Given the description of an element on the screen output the (x, y) to click on. 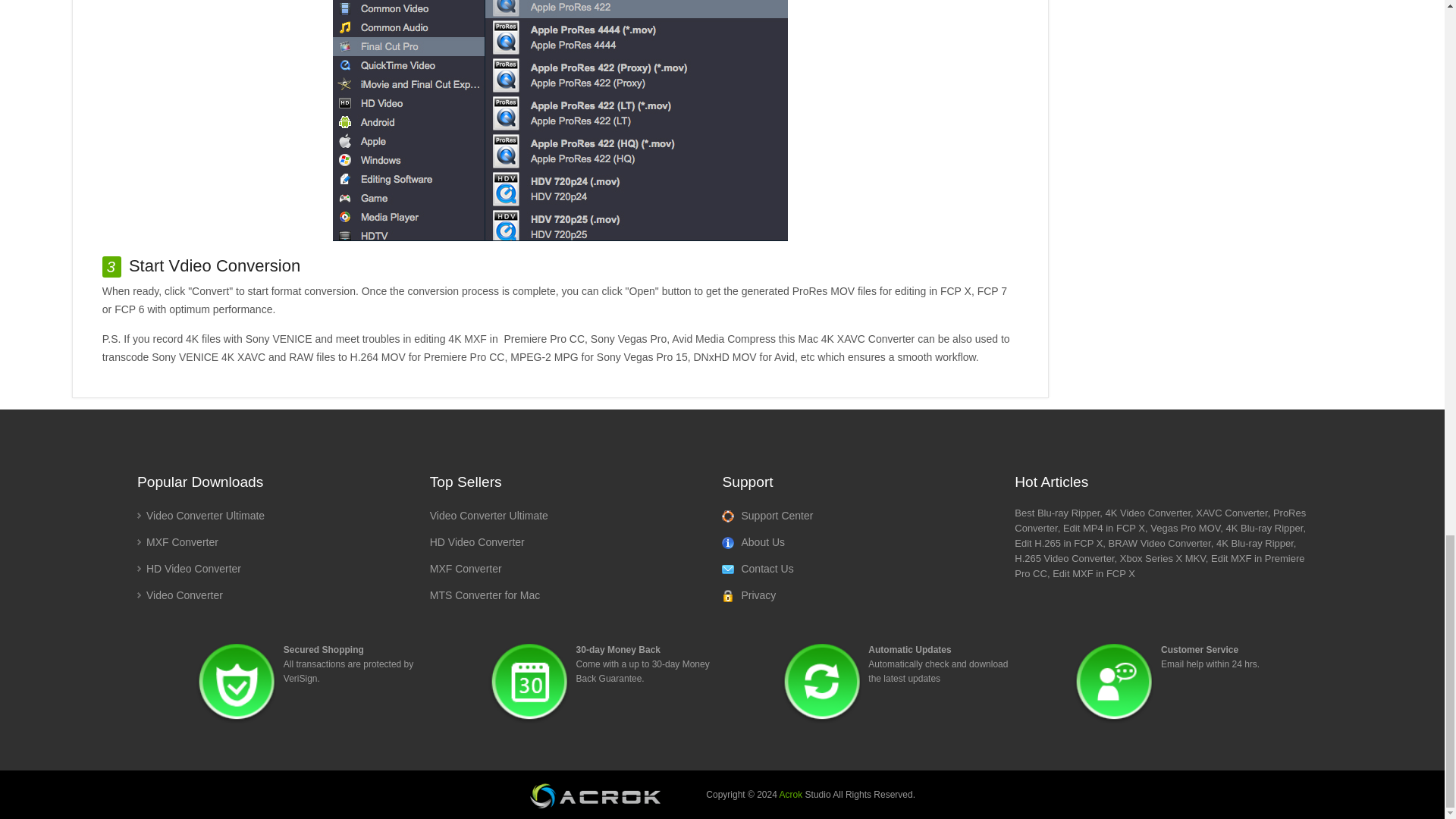
MXF Converter (465, 568)
MTS Converter for Mac (484, 594)
MXF Converter (177, 541)
Video Converter (179, 594)
Video Converter Ultimate (200, 515)
About Us (753, 542)
HD Video Converter (476, 541)
Support Center (767, 515)
HD Video Converter (188, 568)
Video Converter Ultimate (488, 515)
